Given the description of an element on the screen output the (x, y) to click on. 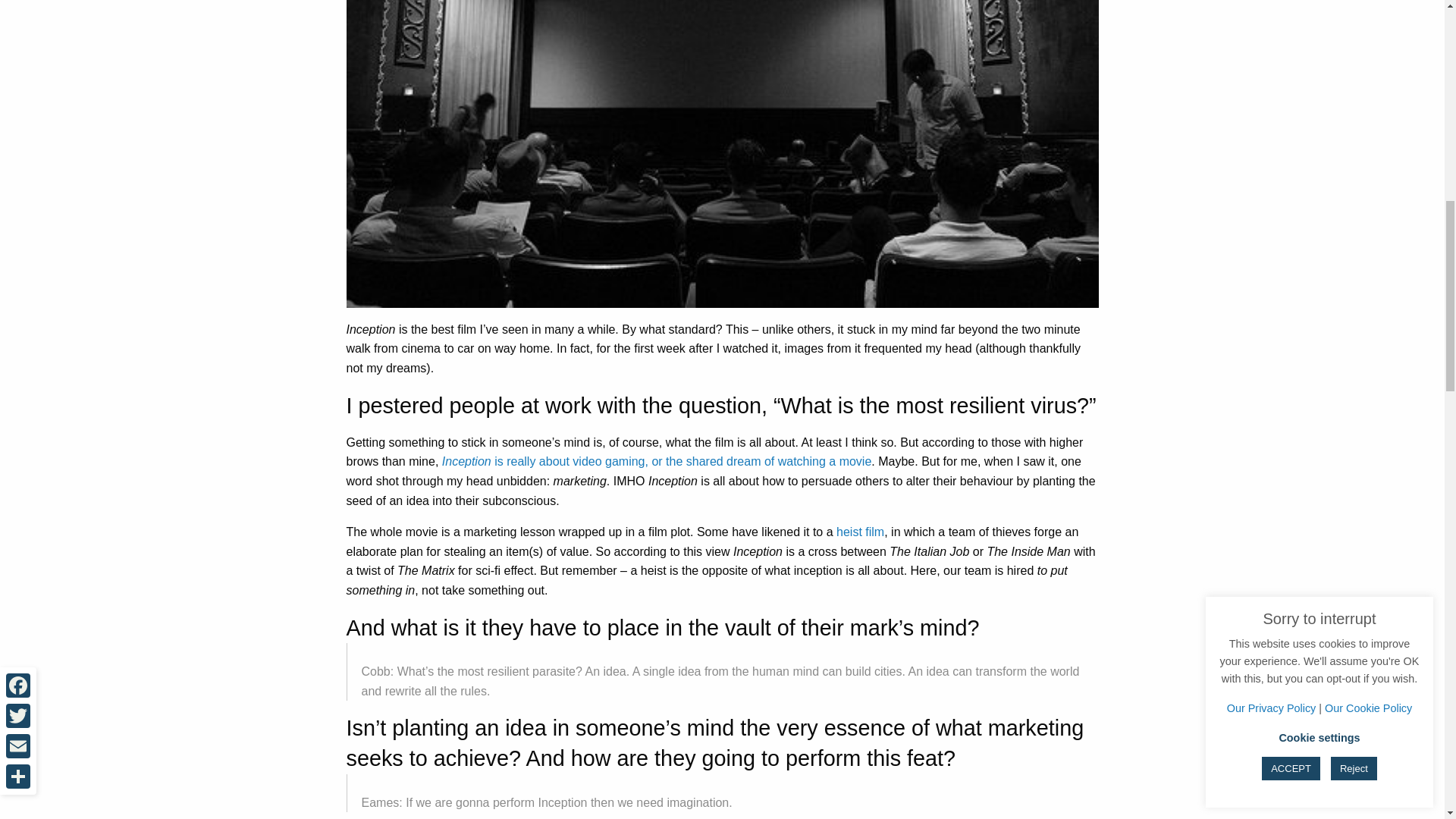
heist film (859, 531)
